Given the description of an element on the screen output the (x, y) to click on. 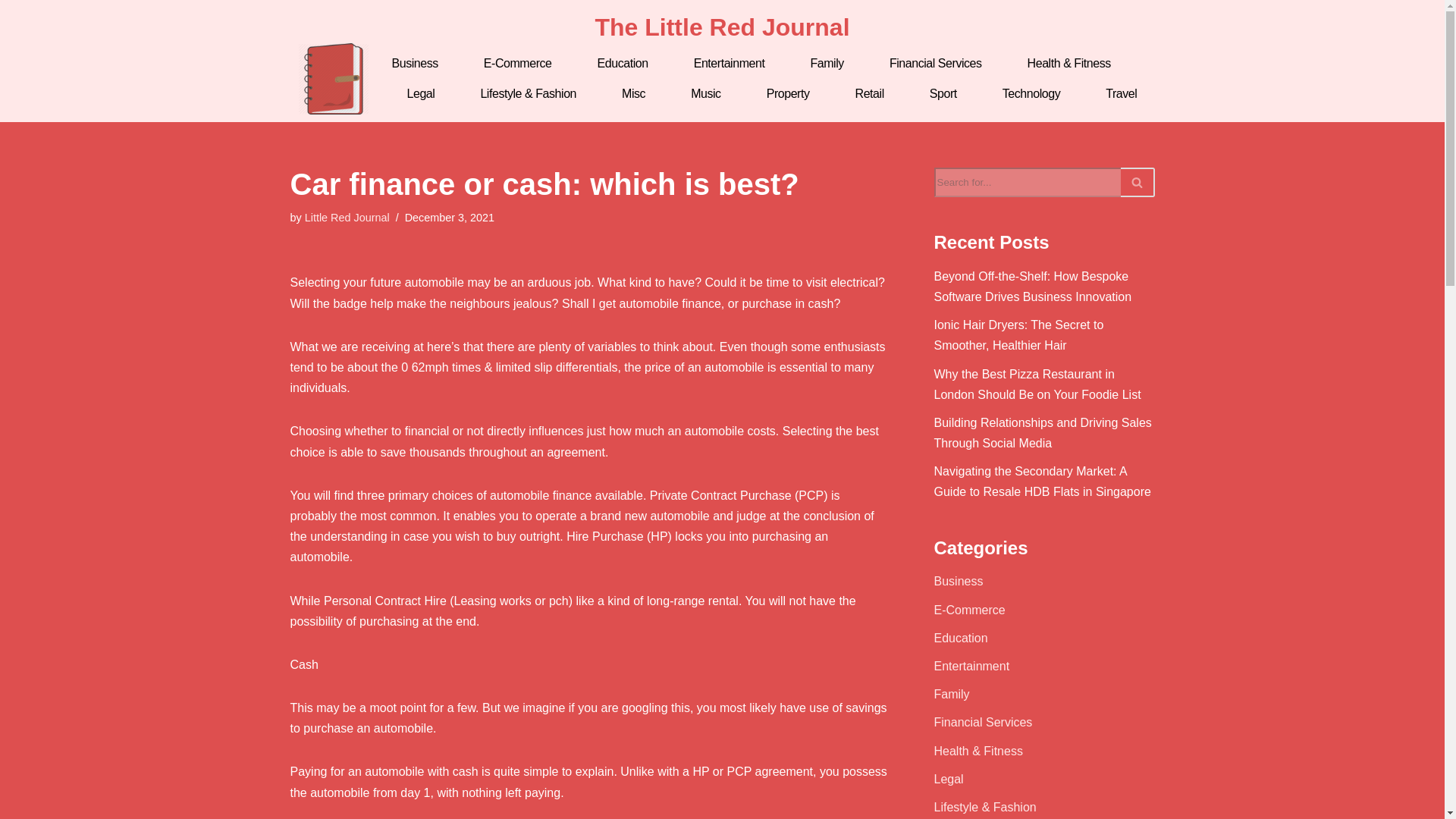
Legal (420, 93)
The Little Red Journal (721, 26)
Financial Services (936, 63)
Little Red Journal (347, 217)
Property (787, 93)
Entertainment (729, 63)
Sport (942, 93)
Travel (1120, 93)
Business (414, 63)
Technology (1030, 93)
